Given the description of an element on the screen output the (x, y) to click on. 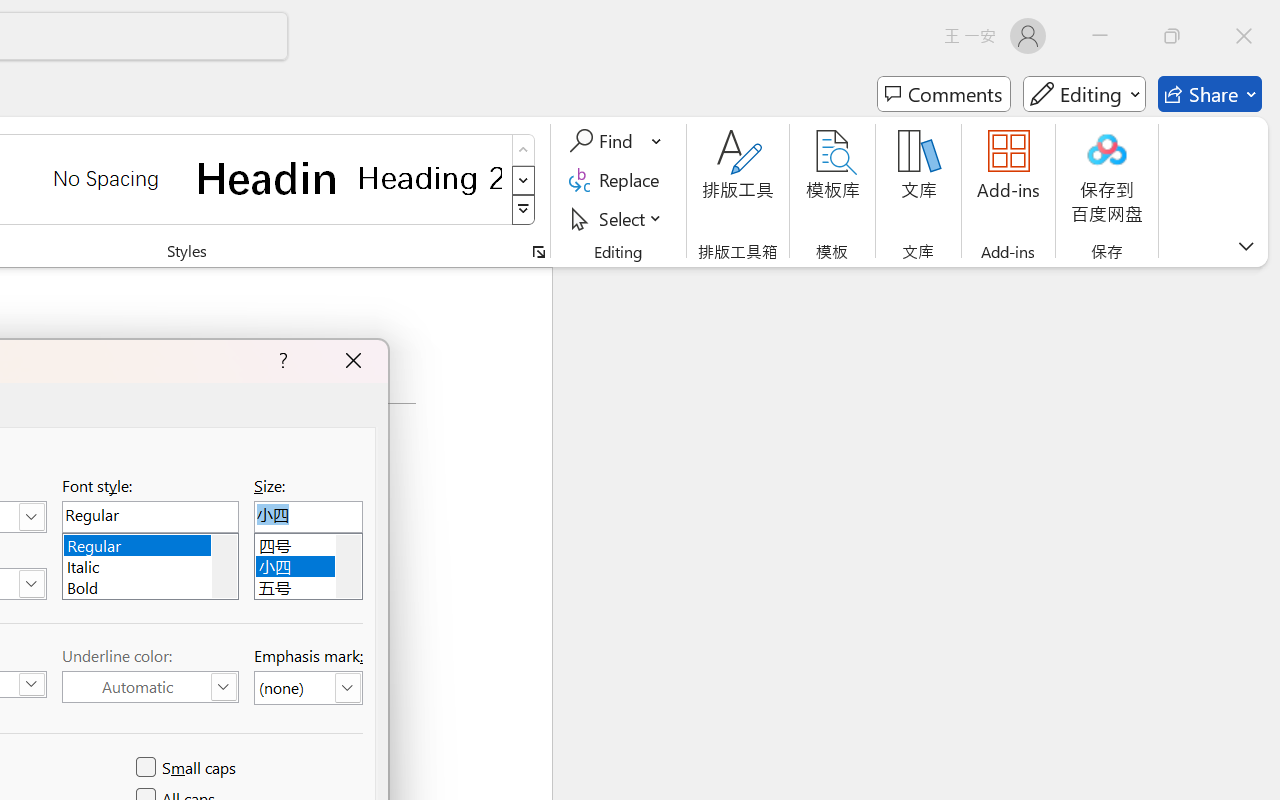
Regular (150, 542)
Underline Color (Automatic) (150, 687)
